Given the description of an element on the screen output the (x, y) to click on. 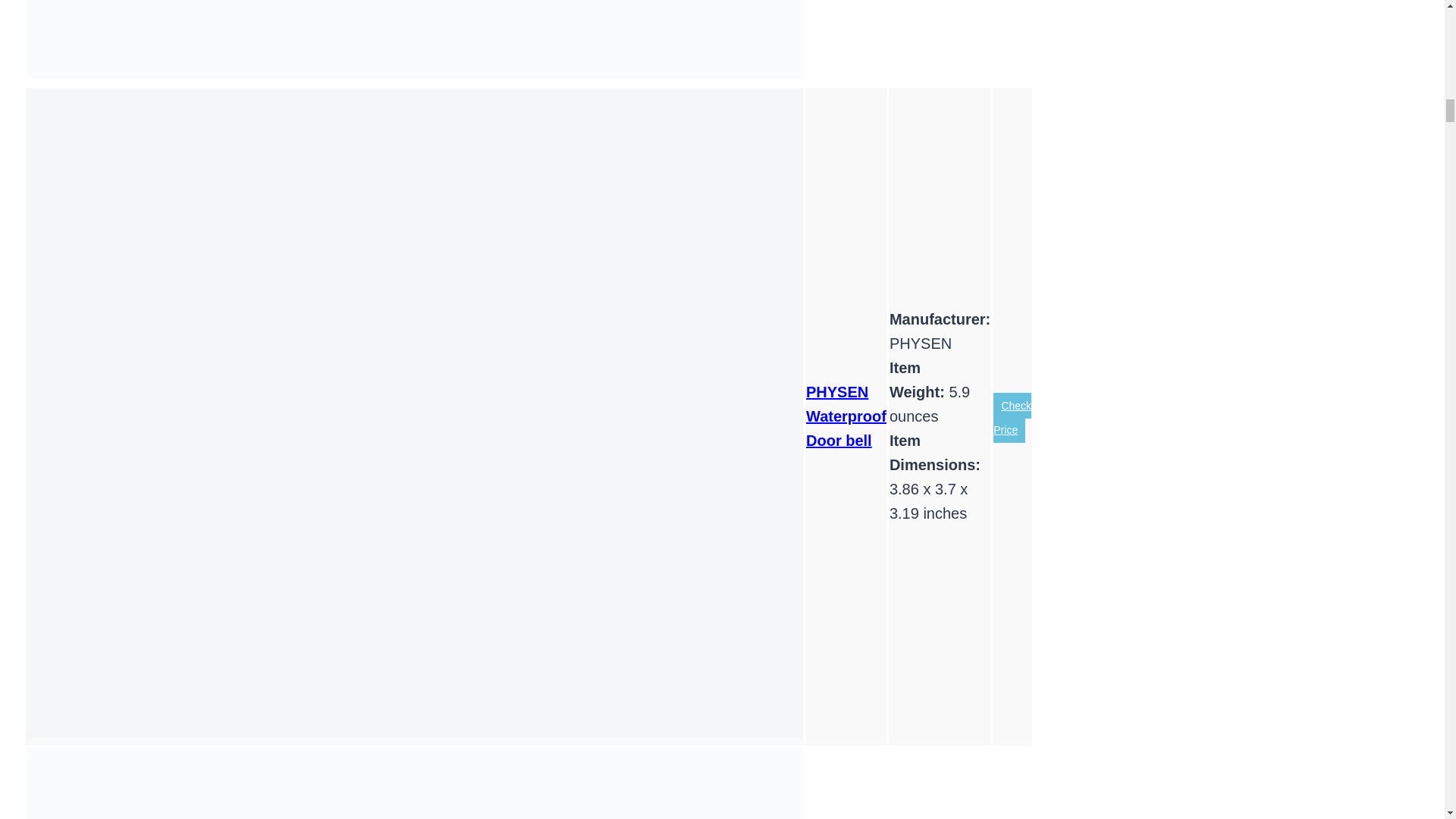
TECKNET-Self-Powered-Wireless-Doorbell (414, 39)
PHYSEN Waterproof Door bell (846, 416)
AIDA-Lighted-Wireless-Doorbell (414, 783)
